Given the description of an element on the screen output the (x, y) to click on. 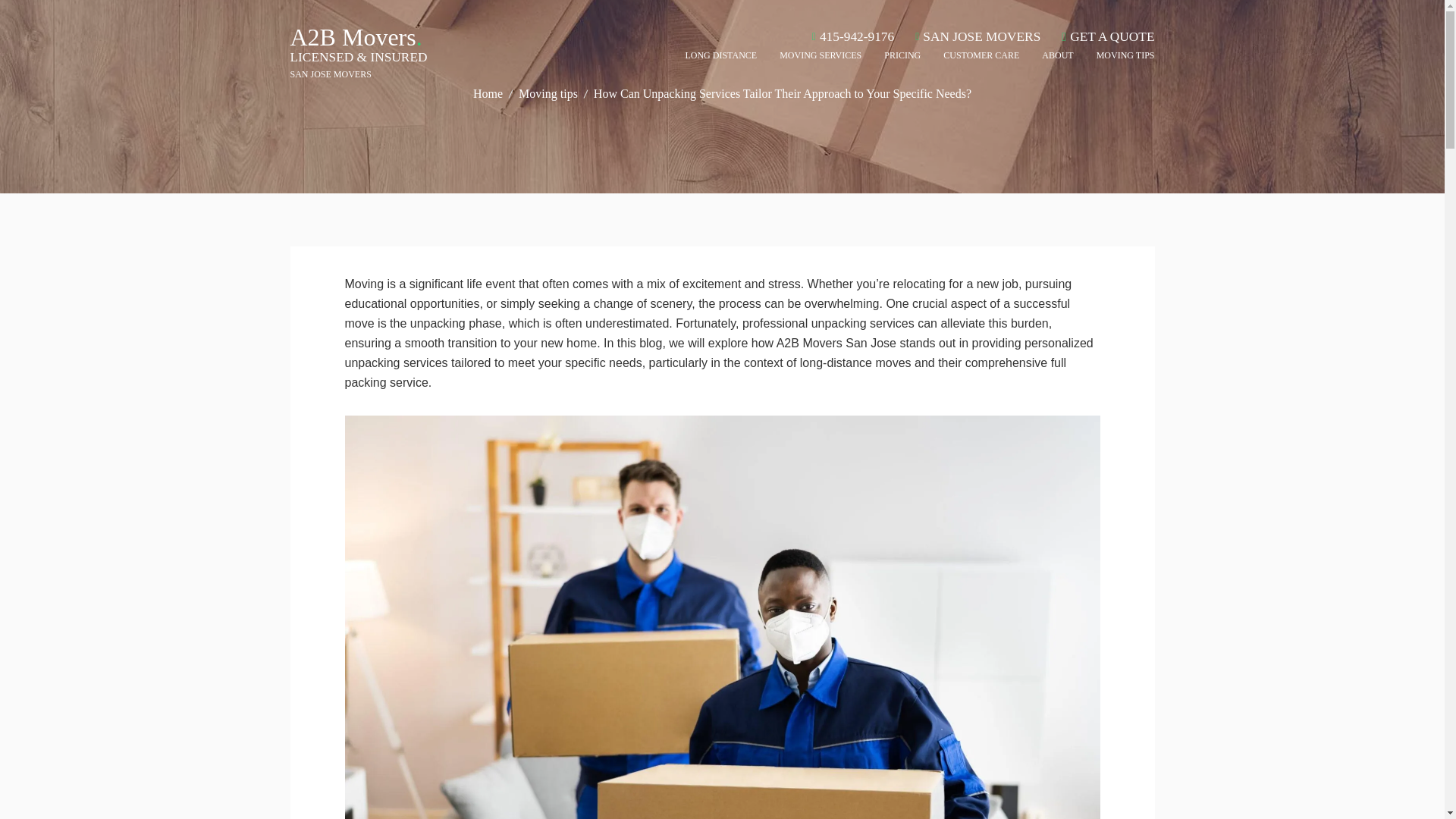
A2B Movers. (355, 36)
PRICING (901, 57)
CUSTOMER CARE (980, 57)
MOVING SERVICES (820, 57)
415-942-9176 (852, 37)
GET A QUOTE (1107, 37)
MOVING TIPS (1119, 57)
LONG DISTANCE (726, 57)
ABOUT (1057, 57)
